Given the description of an element on the screen output the (x, y) to click on. 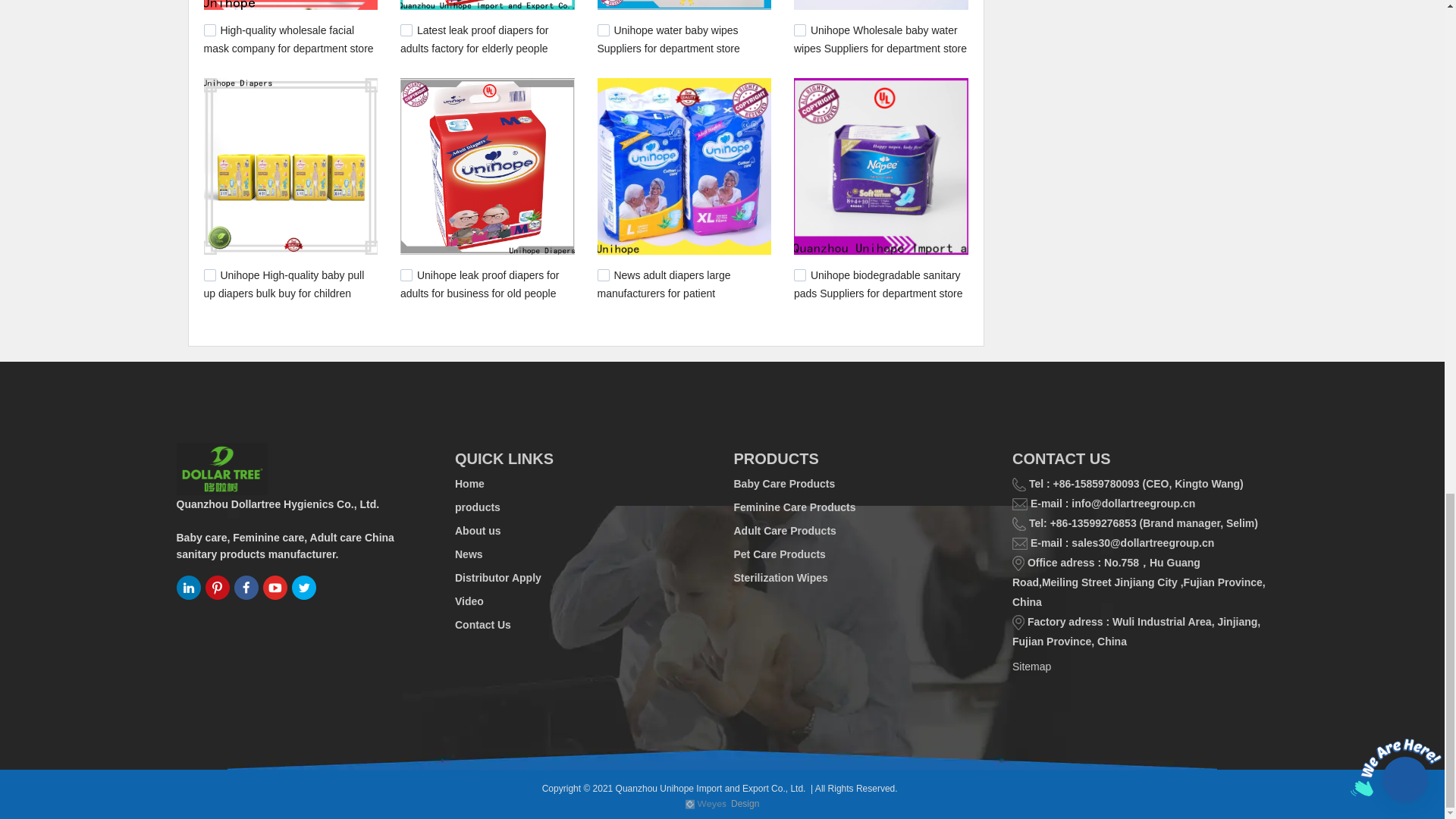
News adult diapers large manufacturers for patient (663, 284)
1151 (406, 30)
807 (799, 275)
1148 (603, 30)
Unihope water baby wipes Suppliers for department store (667, 39)
1093 (209, 275)
1160 (209, 30)
1112 (799, 30)
858 (603, 275)
860 (406, 275)
